Given the description of an element on the screen output the (x, y) to click on. 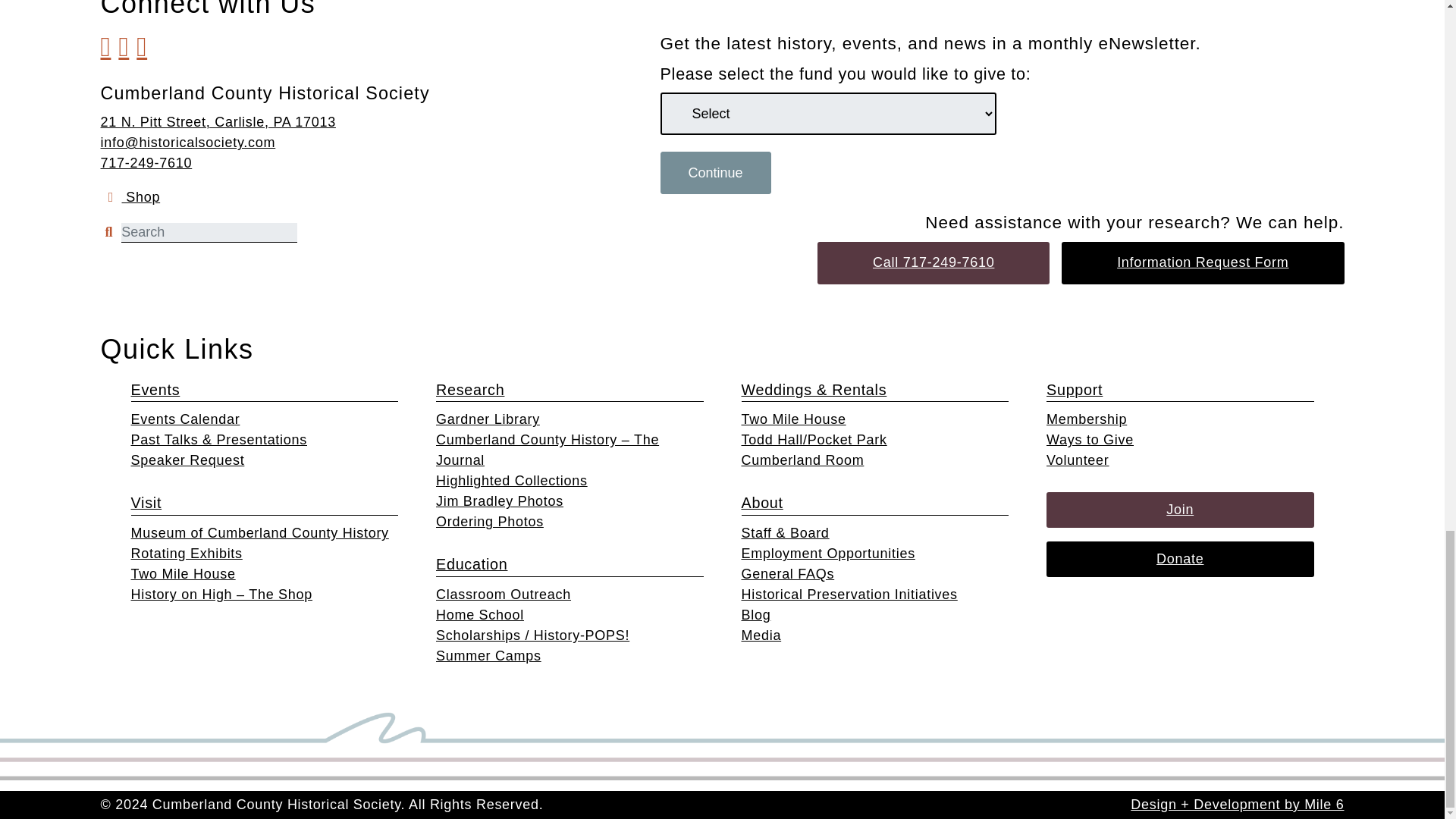
Continue (714, 172)
